Given the description of an element on the screen output the (x, y) to click on. 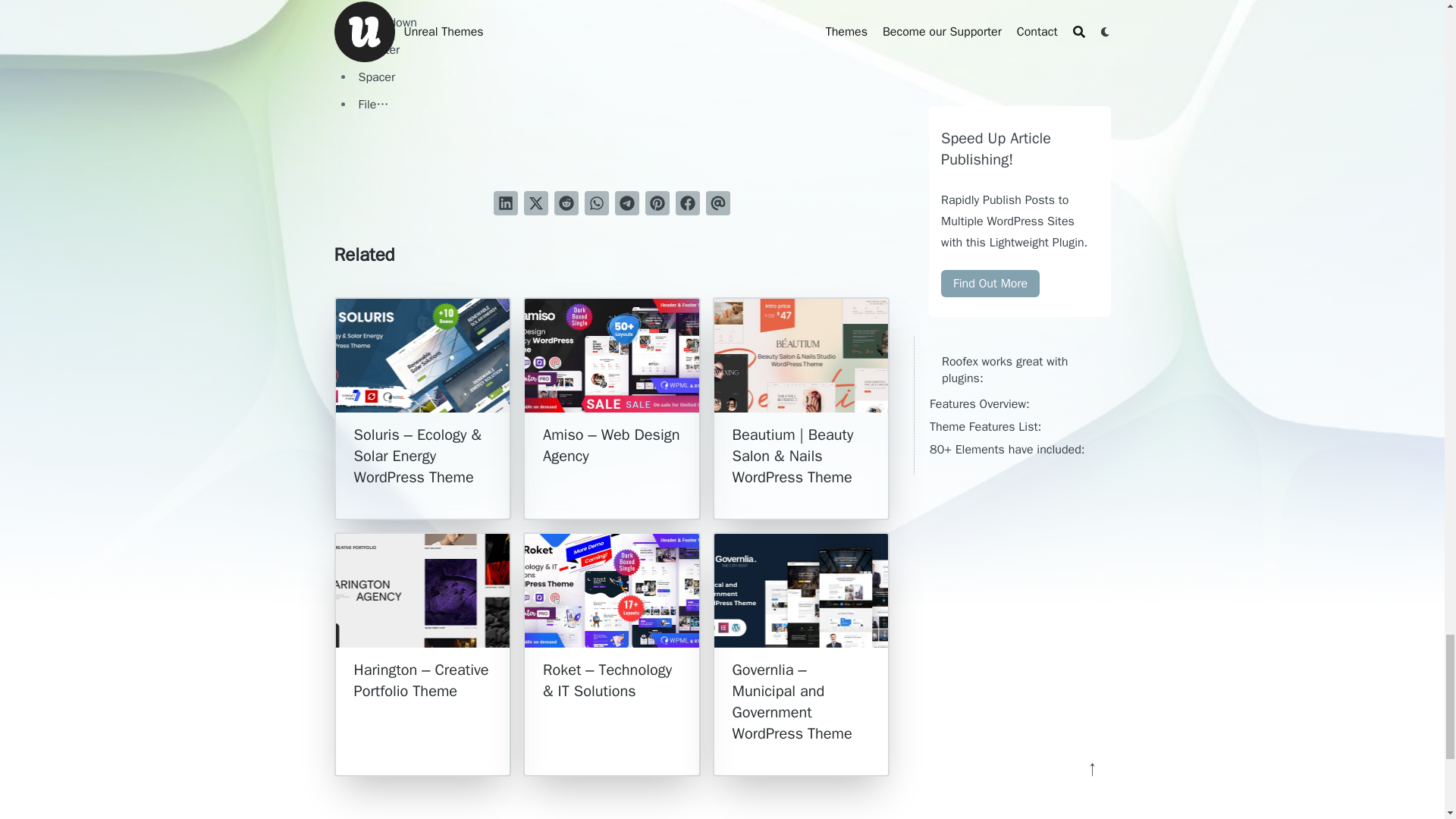
Share on LinkedIn (505, 202)
Tweet on Twitter (536, 202)
Share on Facebook (687, 202)
Submit to Reddit (566, 202)
Pin on Pinterest (657, 202)
Send via email (718, 202)
